Given the description of an element on the screen output the (x, y) to click on. 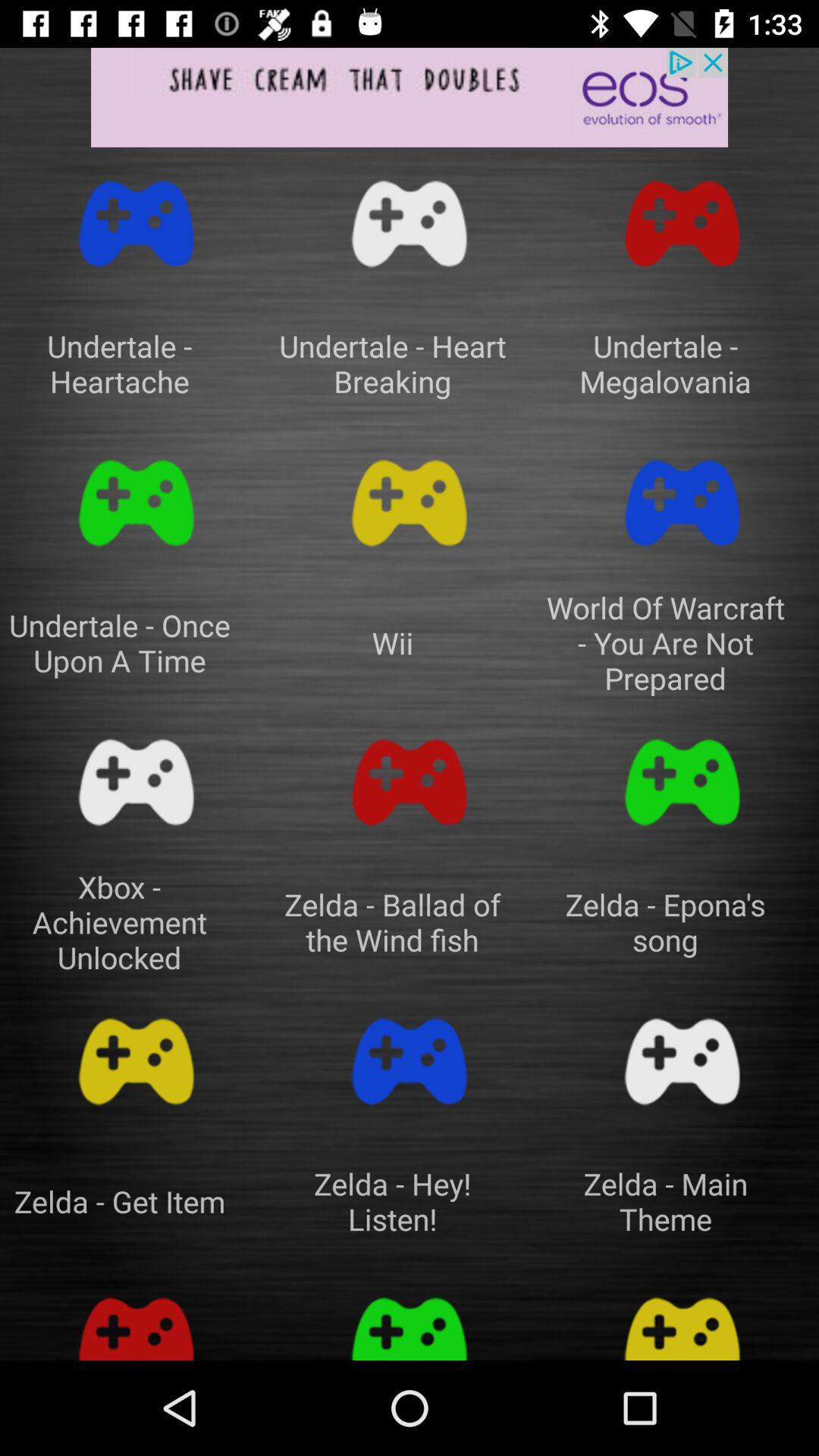
game (409, 1061)
